Given the description of an element on the screen output the (x, y) to click on. 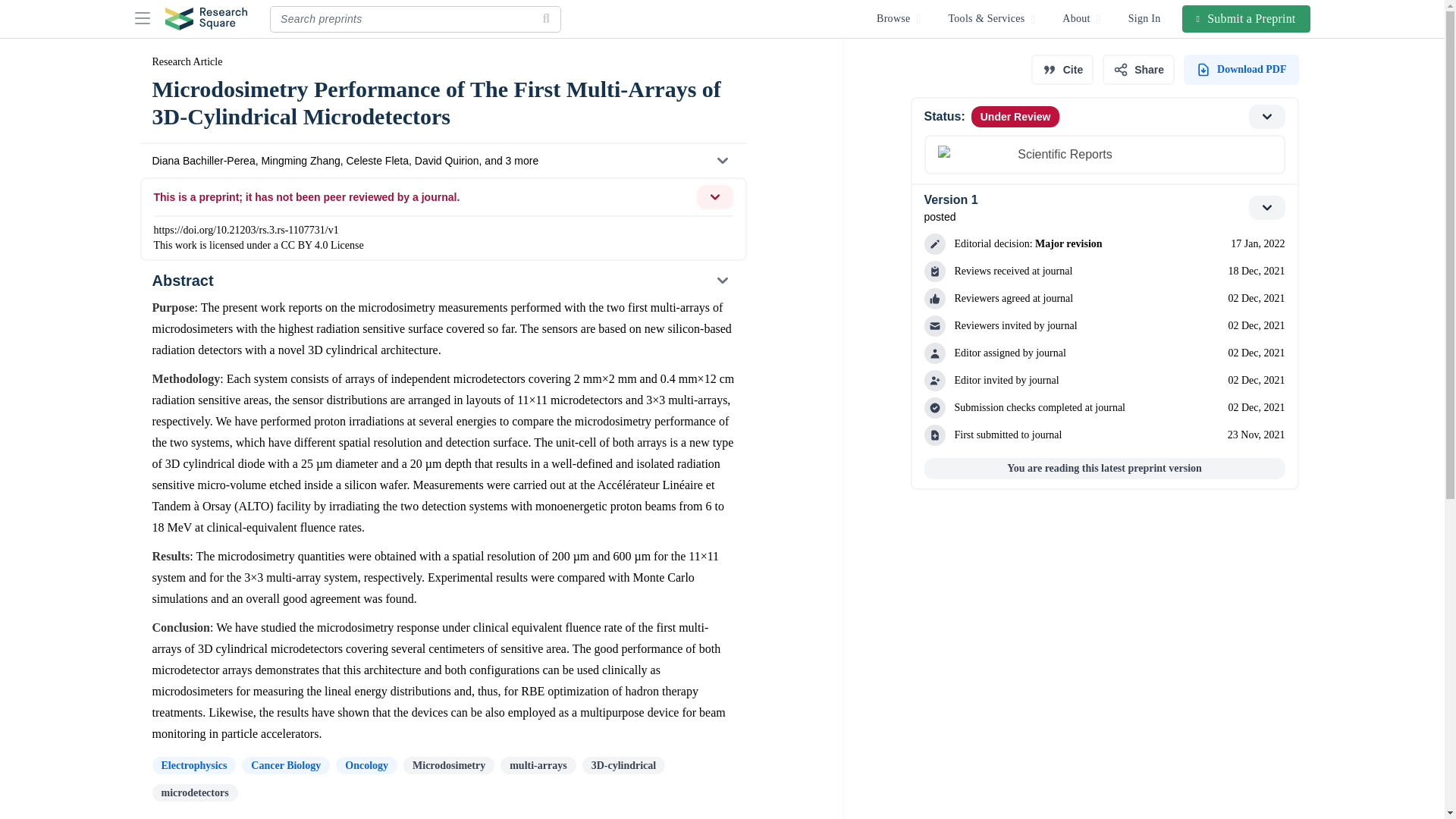
Cite (1061, 69)
Abstract (442, 280)
Share (1103, 207)
Cancer Biology (1138, 69)
Oncology (285, 764)
Electrophysics (366, 764)
